Given the description of an element on the screen output the (x, y) to click on. 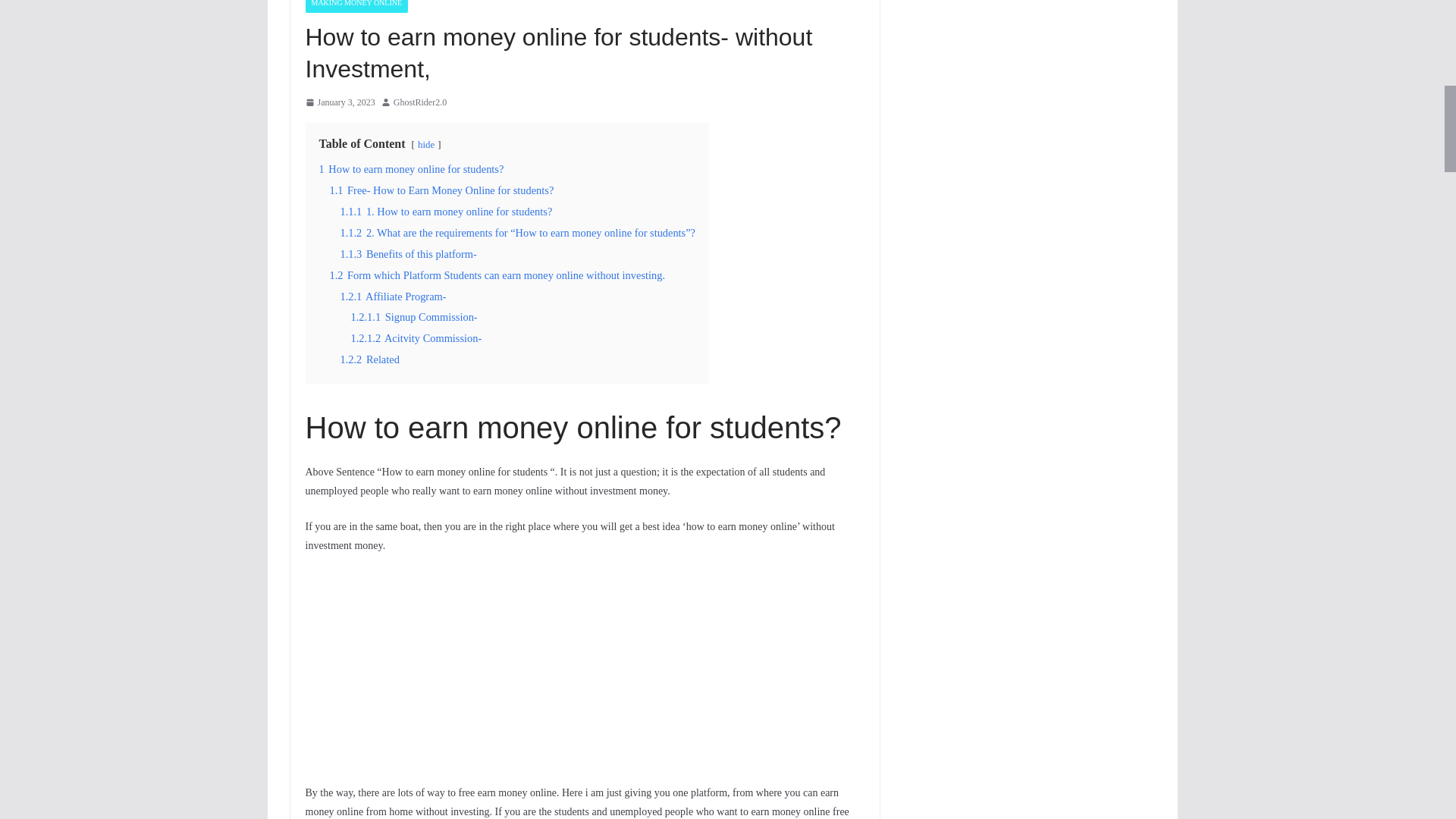
1.2.1 Affiliate Program- (392, 295)
1.1.3 Benefits of this platform- (407, 254)
MAKING MONEY ONLINE (355, 6)
Advertisement (583, 676)
1.1 Free- How to Earn Money Online for students? (441, 190)
1.2.1.1 Signup Commission- (413, 316)
1.2.2 Related (368, 358)
1.2.1.2 Acitvity Commission- (415, 337)
12:23 pm (339, 103)
1 How to earn money online for students? (410, 168)
